Given the description of an element on the screen output the (x, y) to click on. 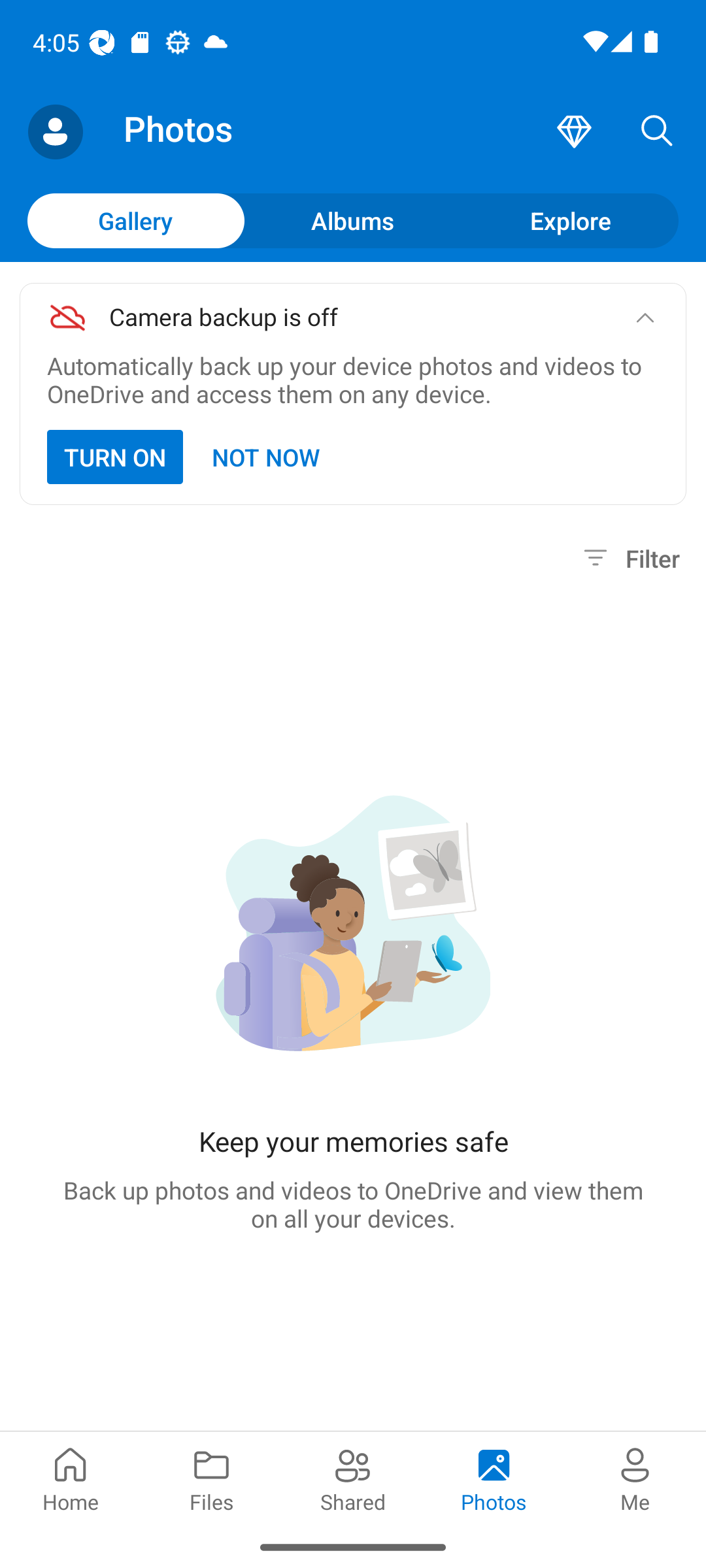
Account switcher (55, 131)
Premium button (574, 131)
Search button (656, 131)
Albums (352, 219)
Explore (569, 219)
Collapse camera status banner (645, 318)
TURN ON (114, 456)
NOT NOW (266, 456)
Filter (628, 557)
Home pivot Home (70, 1478)
Files pivot Files (211, 1478)
Shared pivot Shared (352, 1478)
Me pivot Me (635, 1478)
